Given the description of an element on the screen output the (x, y) to click on. 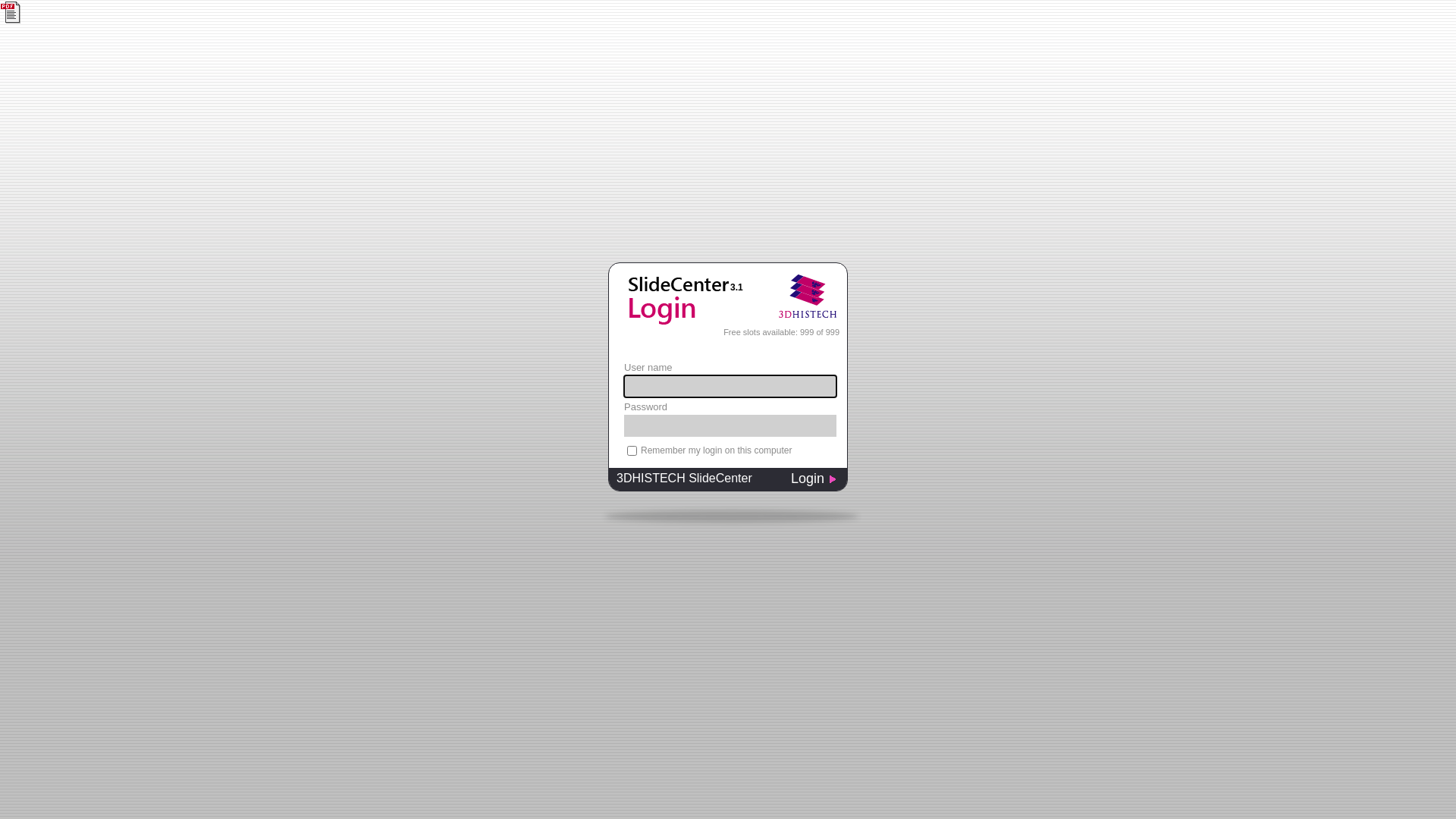
Download User's Guide Element type: hover (12, 12)
Login Element type: text (818, 480)
3DHISTECH SlideCenter Element type: text (693, 480)
